Given the description of an element on the screen output the (x, y) to click on. 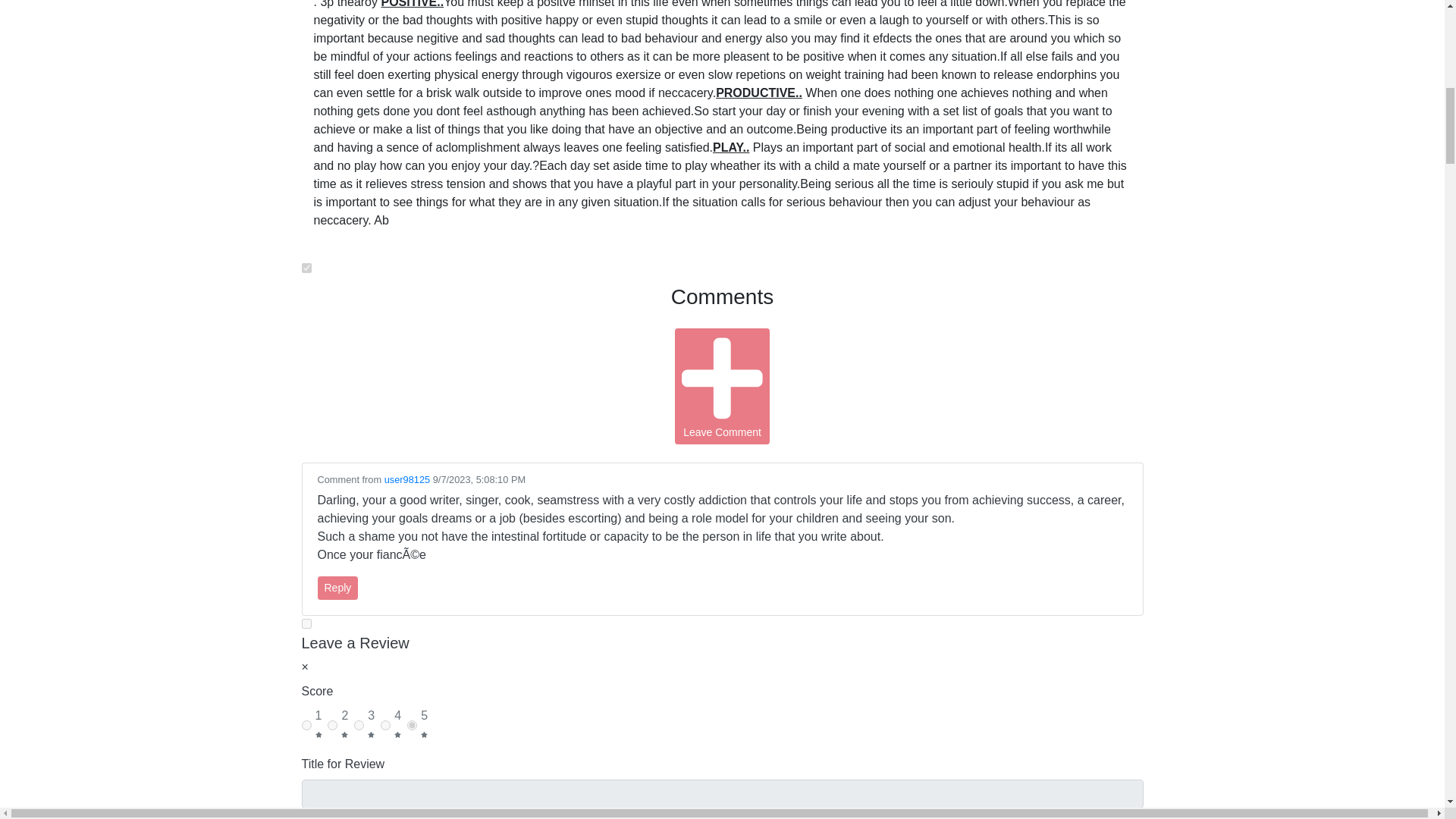
Reply (337, 587)
on (306, 623)
3 (358, 725)
on (306, 267)
1 (306, 725)
5 (411, 725)
user98125 (406, 479)
2 (332, 725)
4 (385, 725)
